Given the description of an element on the screen output the (x, y) to click on. 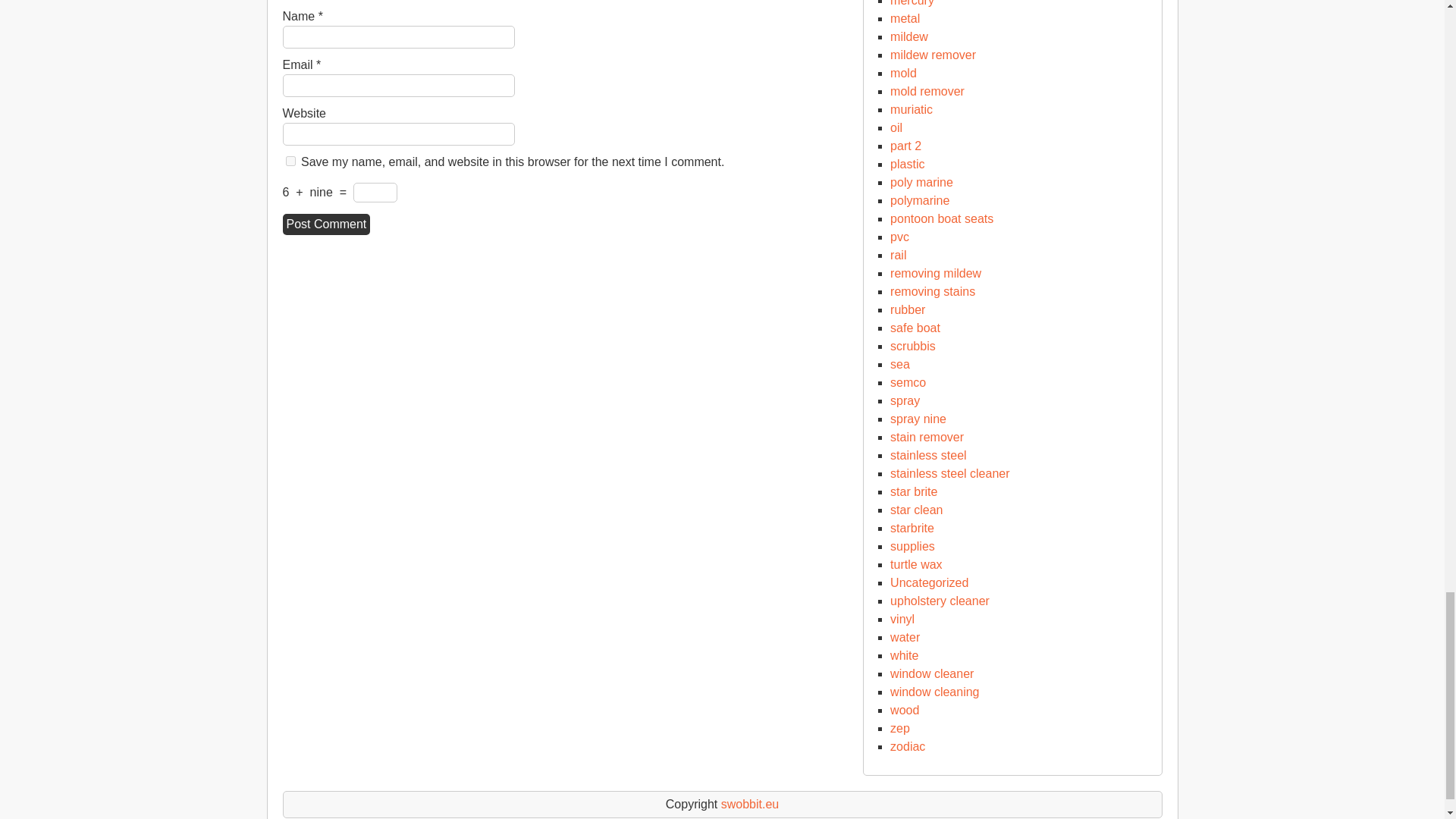
swobbit.eu (749, 803)
yes (290, 161)
Post Comment (325, 224)
